Given the description of an element on the screen output the (x, y) to click on. 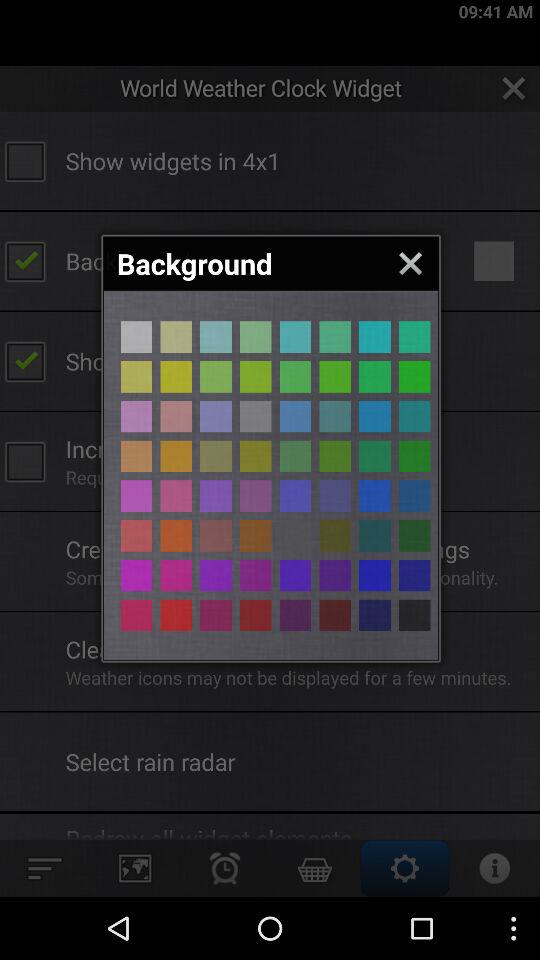
change background color (335, 535)
